Given the description of an element on the screen output the (x, y) to click on. 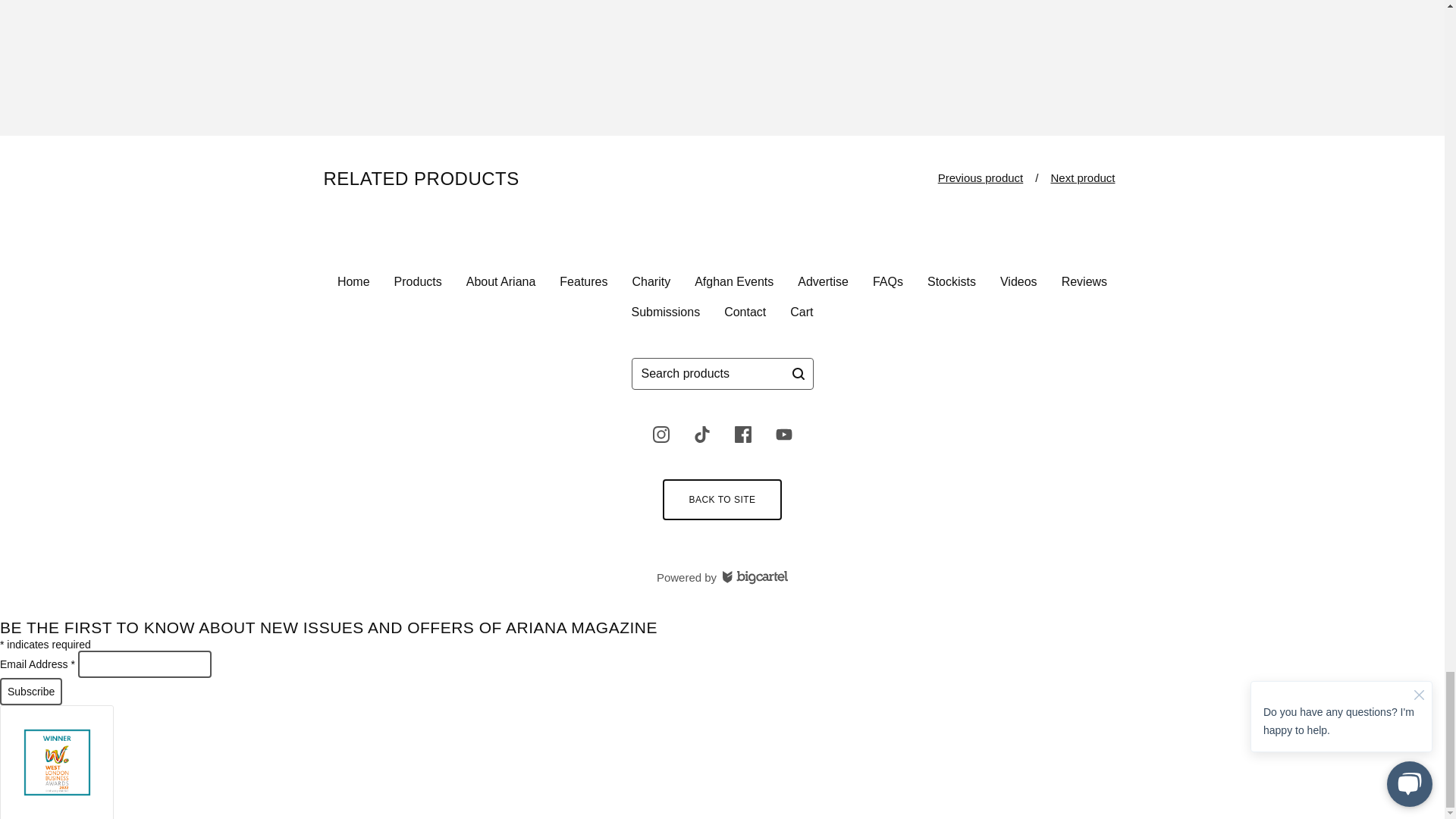
View Previous product (980, 177)
Subscribe (31, 691)
